Given the description of an element on the screen output the (x, y) to click on. 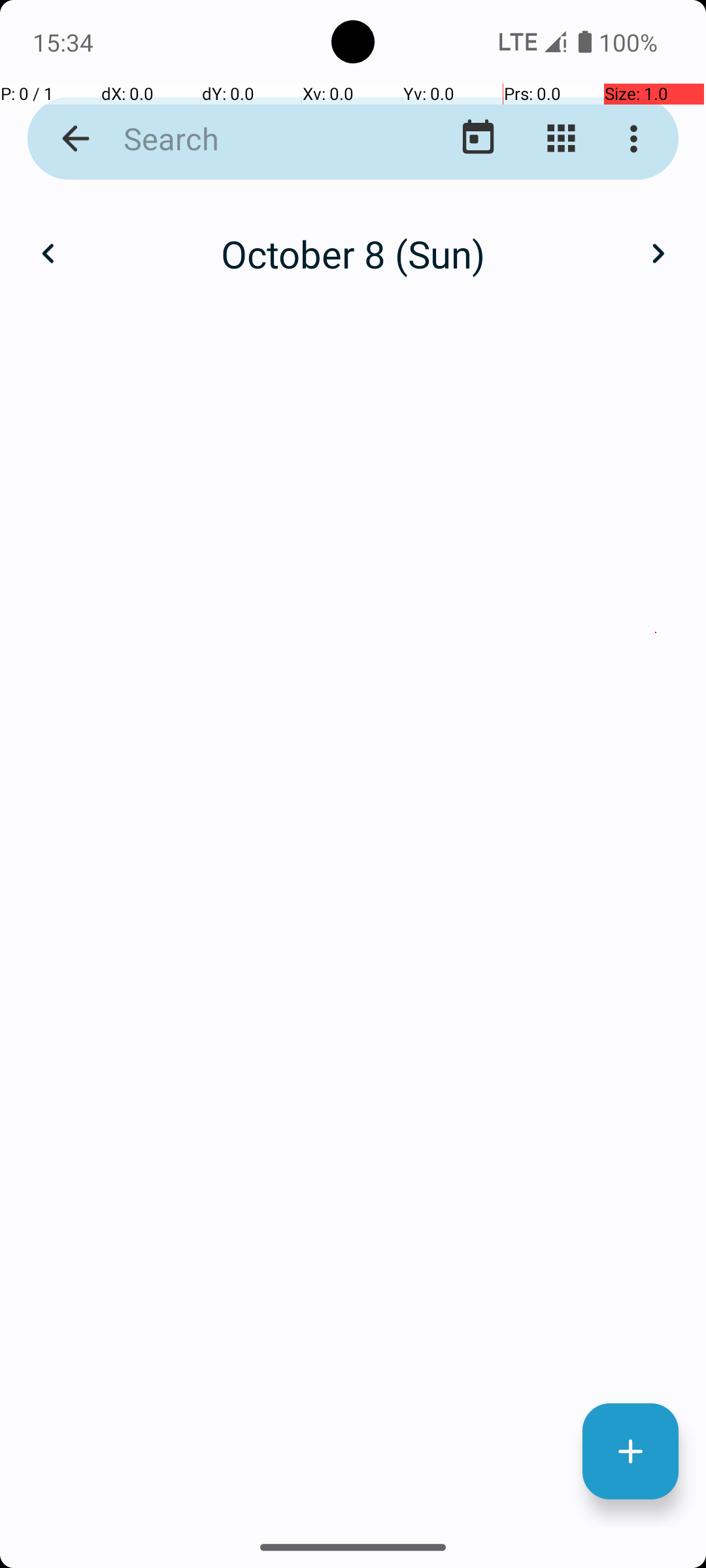
October 8 (Sun) Element type: android.widget.TextView (352, 253)
